Given the description of an element on the screen output the (x, y) to click on. 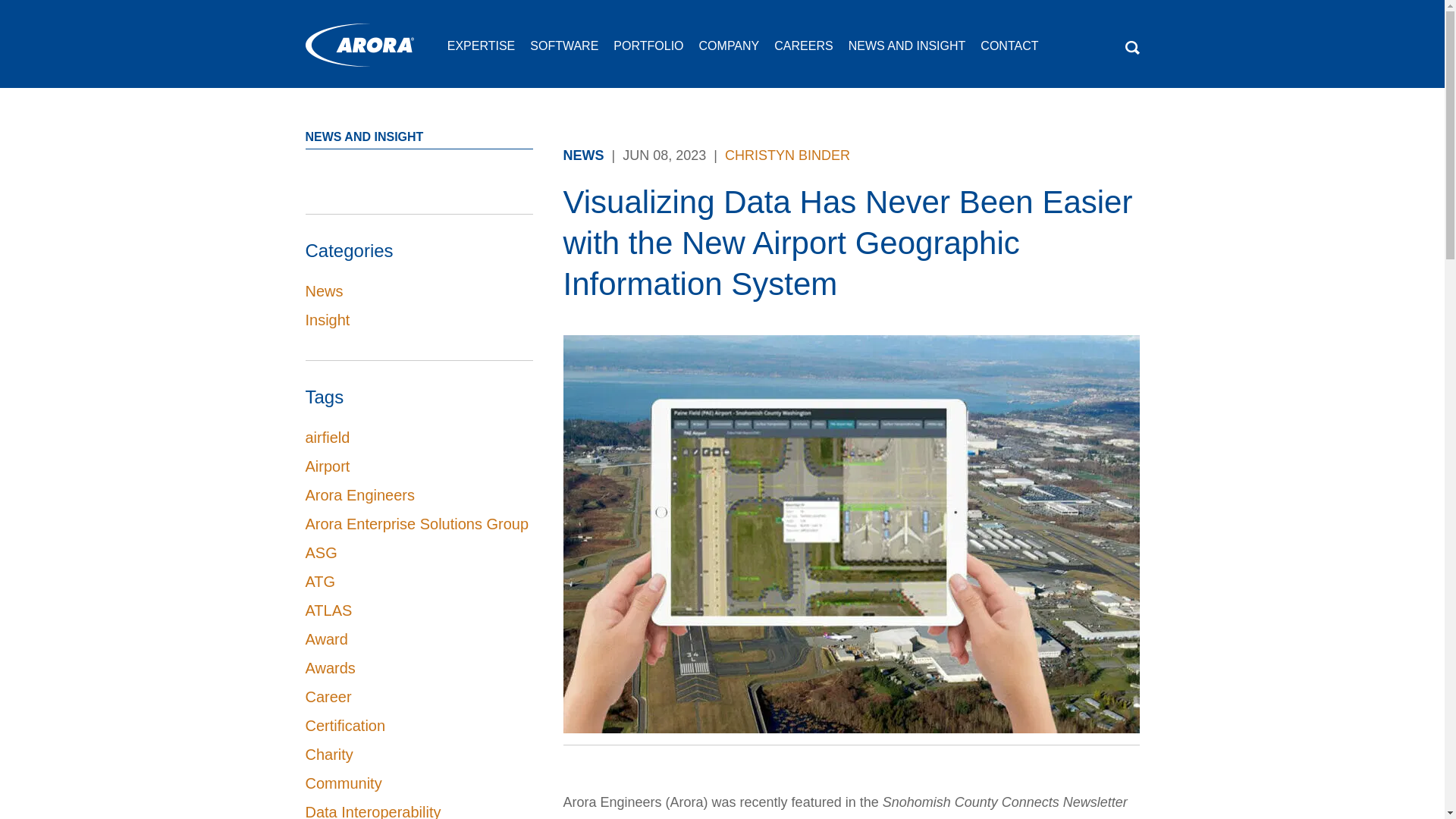
Arora Engineers (360, 44)
COMPANY (729, 52)
NEWS AND INSIGHT (907, 52)
CAREERS (803, 52)
CONTACT (1008, 52)
SOFTWARE (563, 52)
EXPERTISE (480, 52)
PORTFOLIO (647, 52)
